Given the description of an element on the screen output the (x, y) to click on. 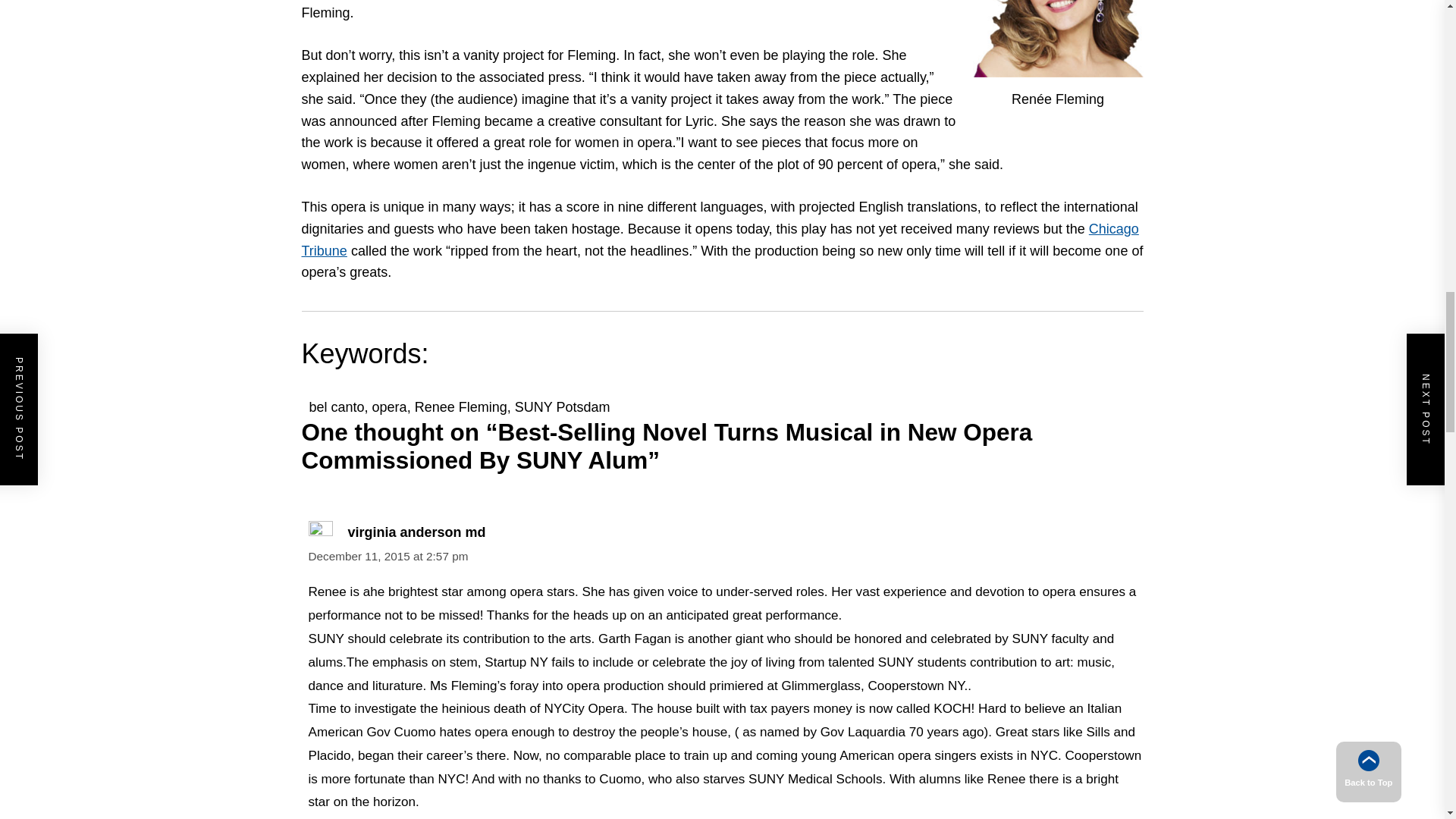
December 11, 2015 at 2:57 pm (387, 555)
Chicago Tribune (719, 239)
Renee Fleming (460, 406)
virginia anderson md (415, 531)
opera (389, 406)
bel canto (336, 406)
SUNY Potsdam (562, 406)
